Given the description of an element on the screen output the (x, y) to click on. 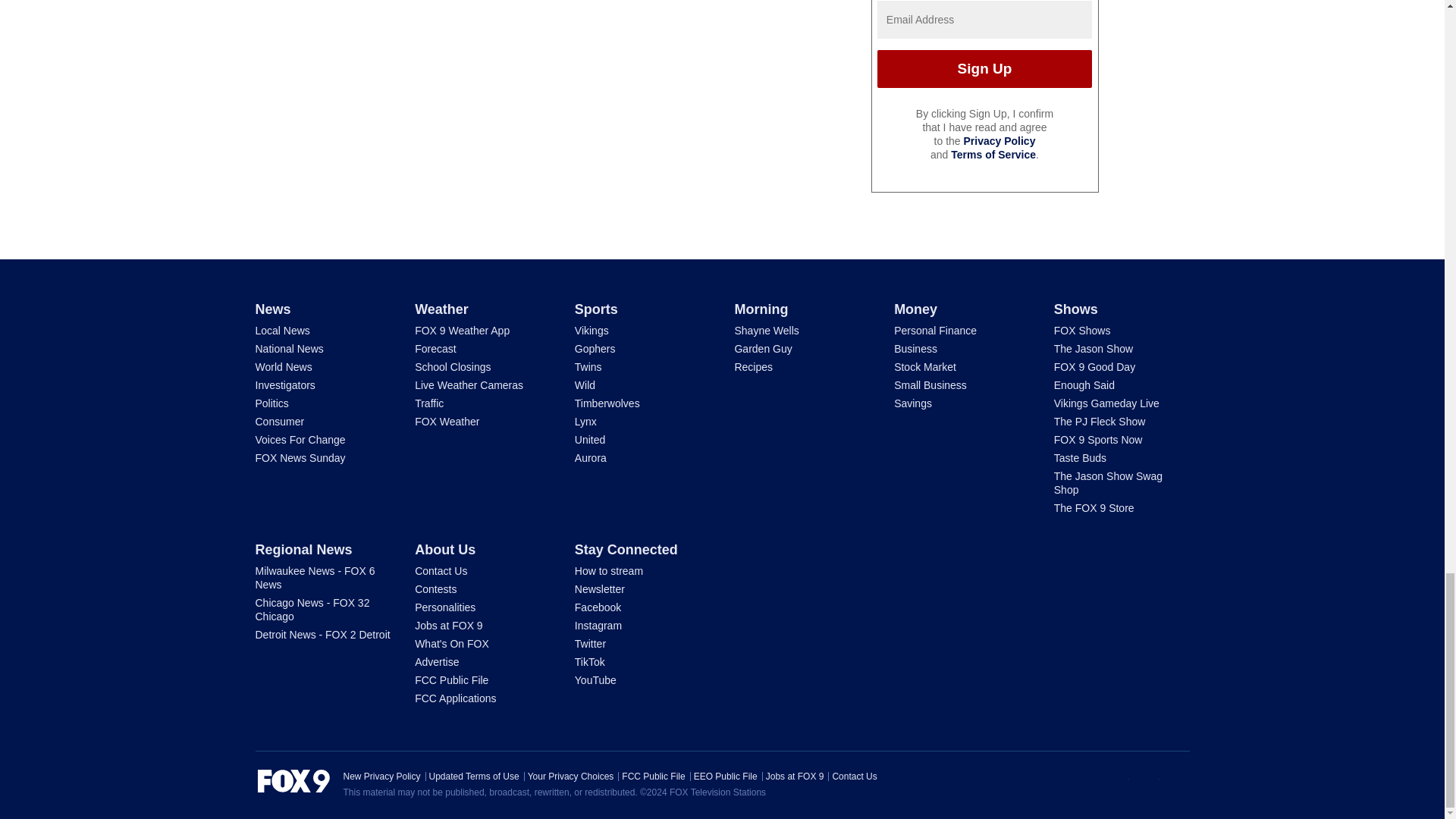
Sign Up (984, 68)
